Given the description of an element on the screen output the (x, y) to click on. 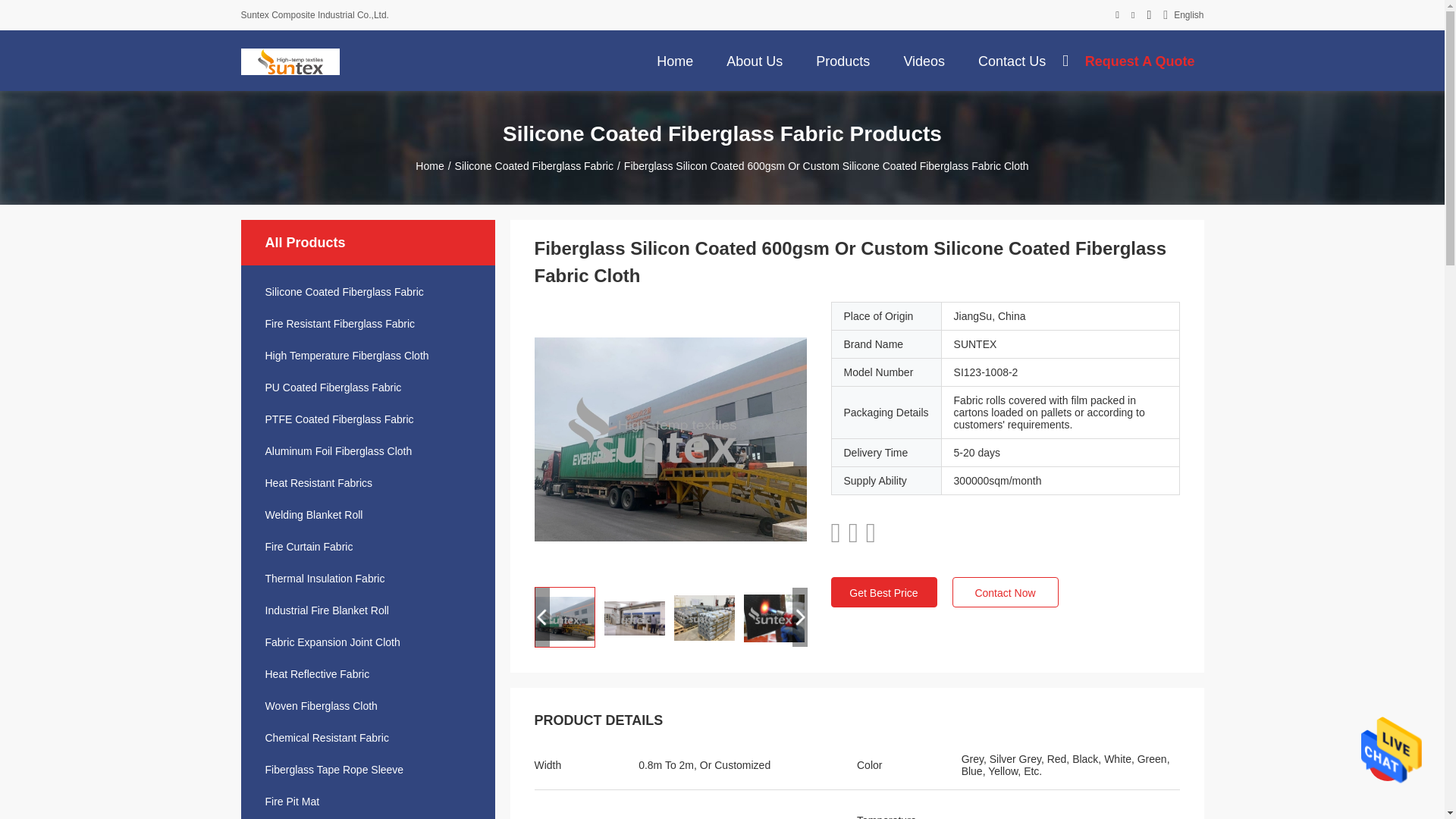
Home (674, 60)
Suntex Composite Industrial Co.,Ltd. Facebook (1117, 15)
Suntex Composite Industrial Co.,Ltd. Twitter (1132, 15)
Home (674, 60)
Suntex Composite Industrial Co.,Ltd. LinkedIn (1149, 15)
About Us (754, 60)
About Us (754, 60)
Suntex Composite Industrial Co.,Ltd. (290, 60)
Products (842, 60)
